Given the description of an element on the screen output the (x, y) to click on. 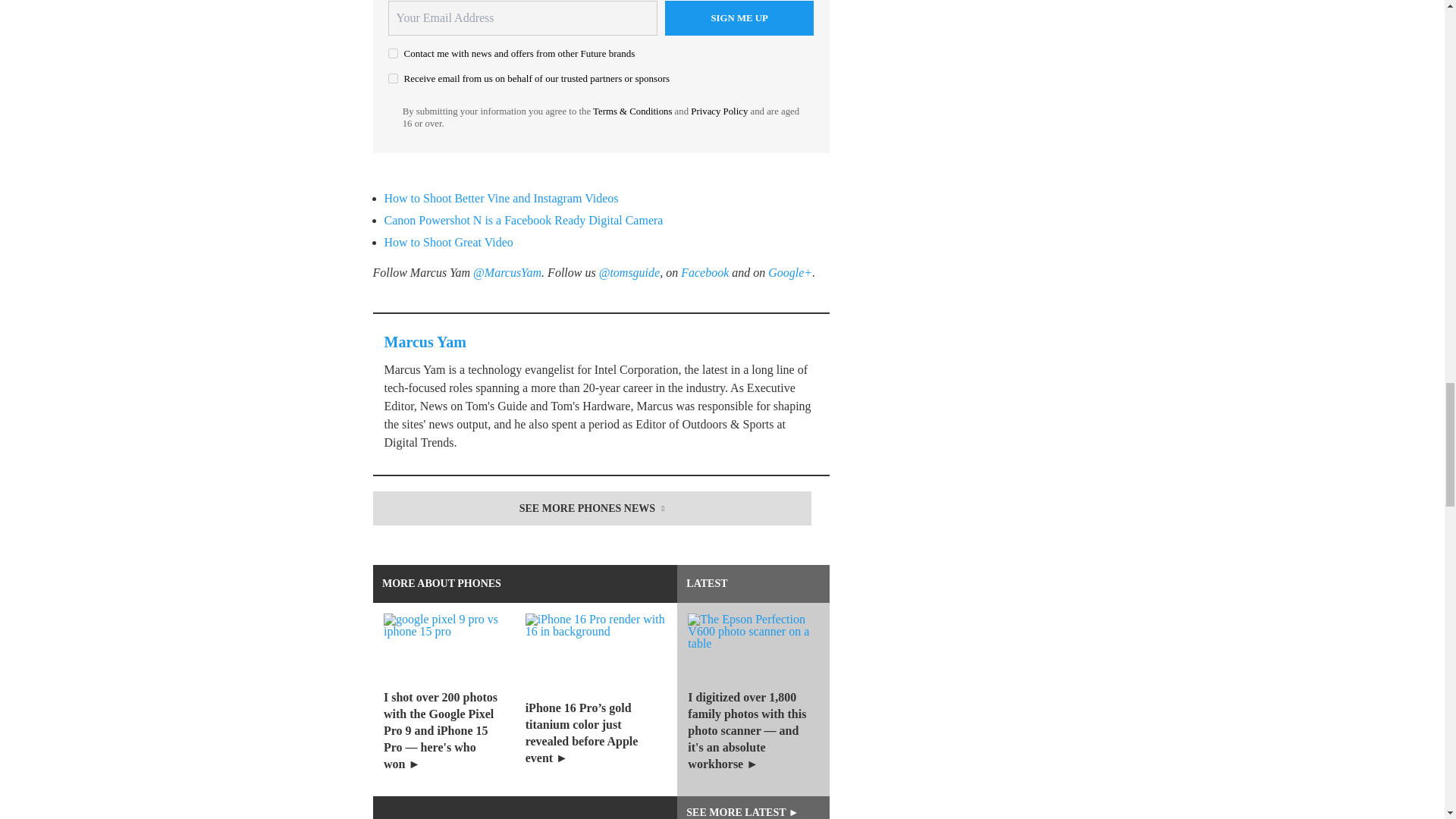
Sign me up (739, 18)
on (392, 53)
on (392, 78)
